Given the description of an element on the screen output the (x, y) to click on. 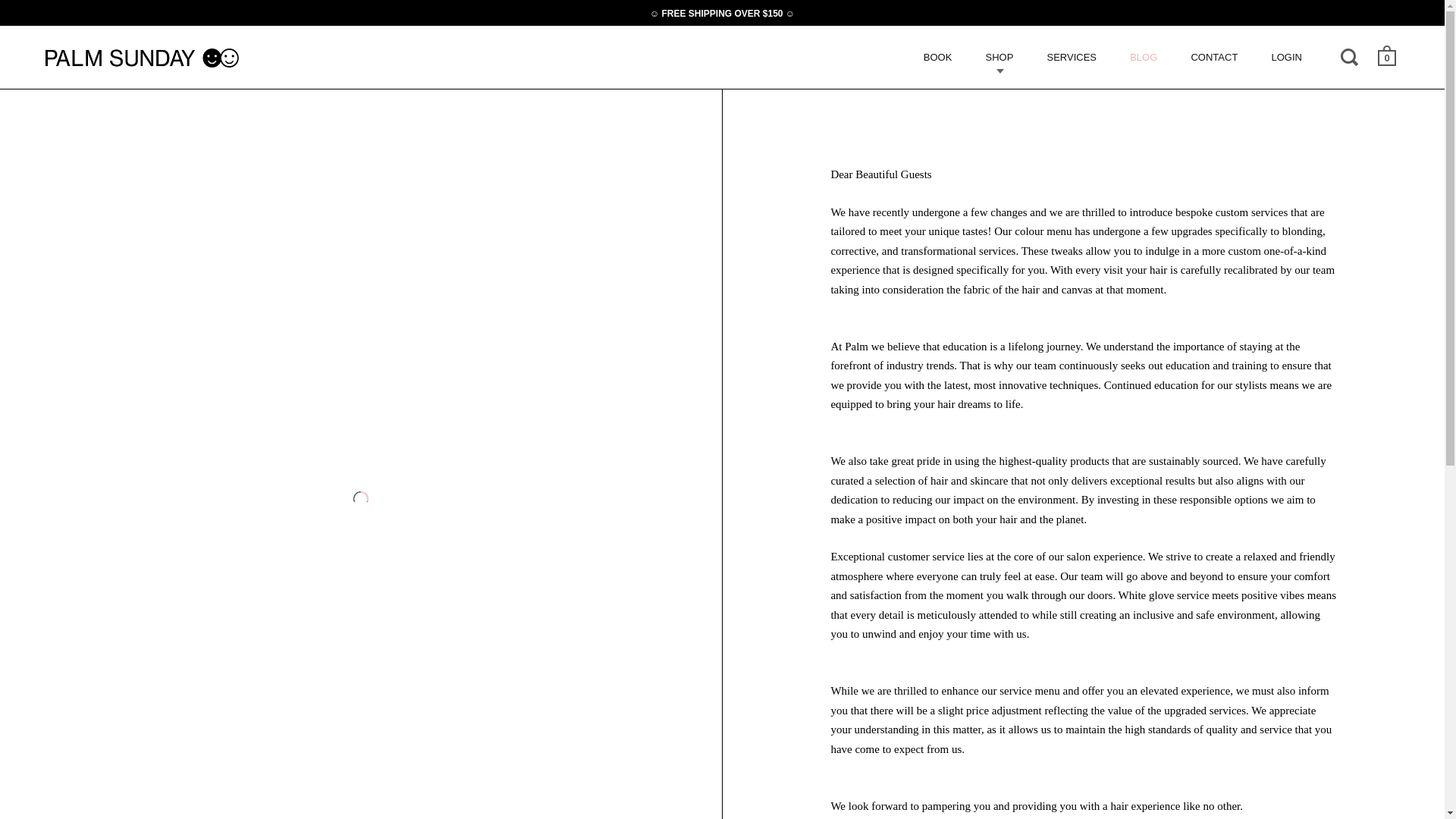
BOOK (938, 56)
Open cart (1387, 55)
Open search (1350, 56)
SERVICES (1071, 56)
CONTACT (1213, 56)
BLOG (1143, 56)
LOGIN (1286, 56)
SHOP (998, 56)
